Given the description of an element on the screen output the (x, y) to click on. 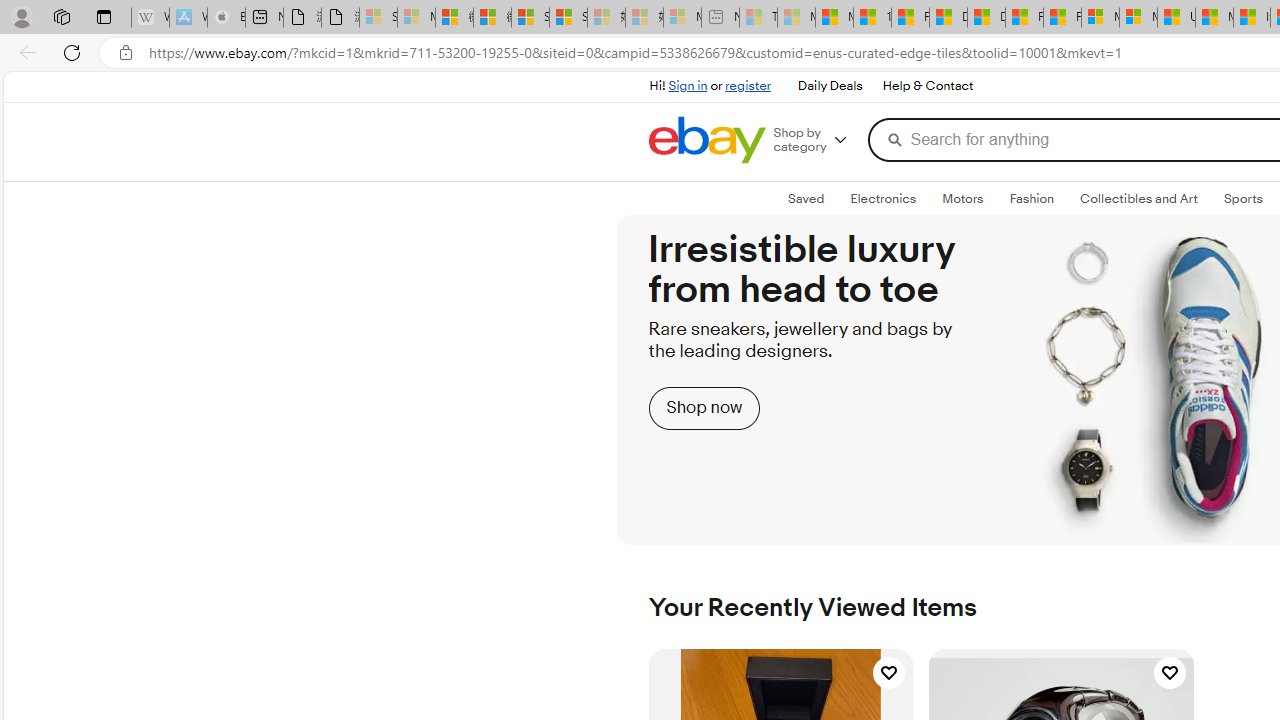
register (747, 85)
Marine life - MSN - Sleeping (796, 17)
ElectronicsExpand: Electronics (883, 199)
Collectibles and ArtExpand: Collectibles and Art (1138, 199)
Fashion (1031, 198)
Saved (806, 199)
